Given the description of an element on the screen output the (x, y) to click on. 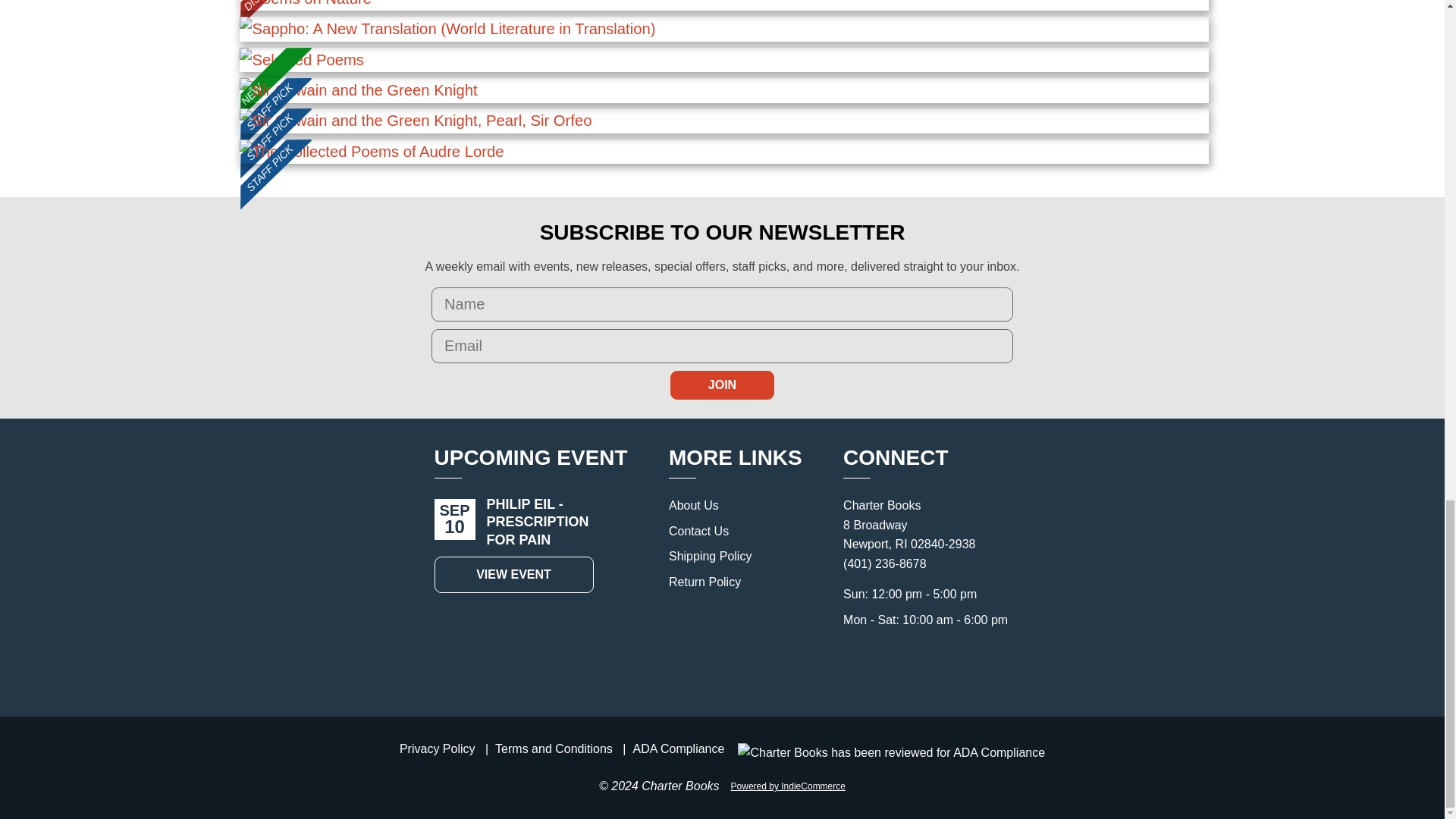
Connect with Instagram (852, 663)
Connect with Facebook (919, 663)
Connect with X (885, 663)
Join (721, 385)
Connect with Tik Tok (951, 663)
